Given the description of an element on the screen output the (x, y) to click on. 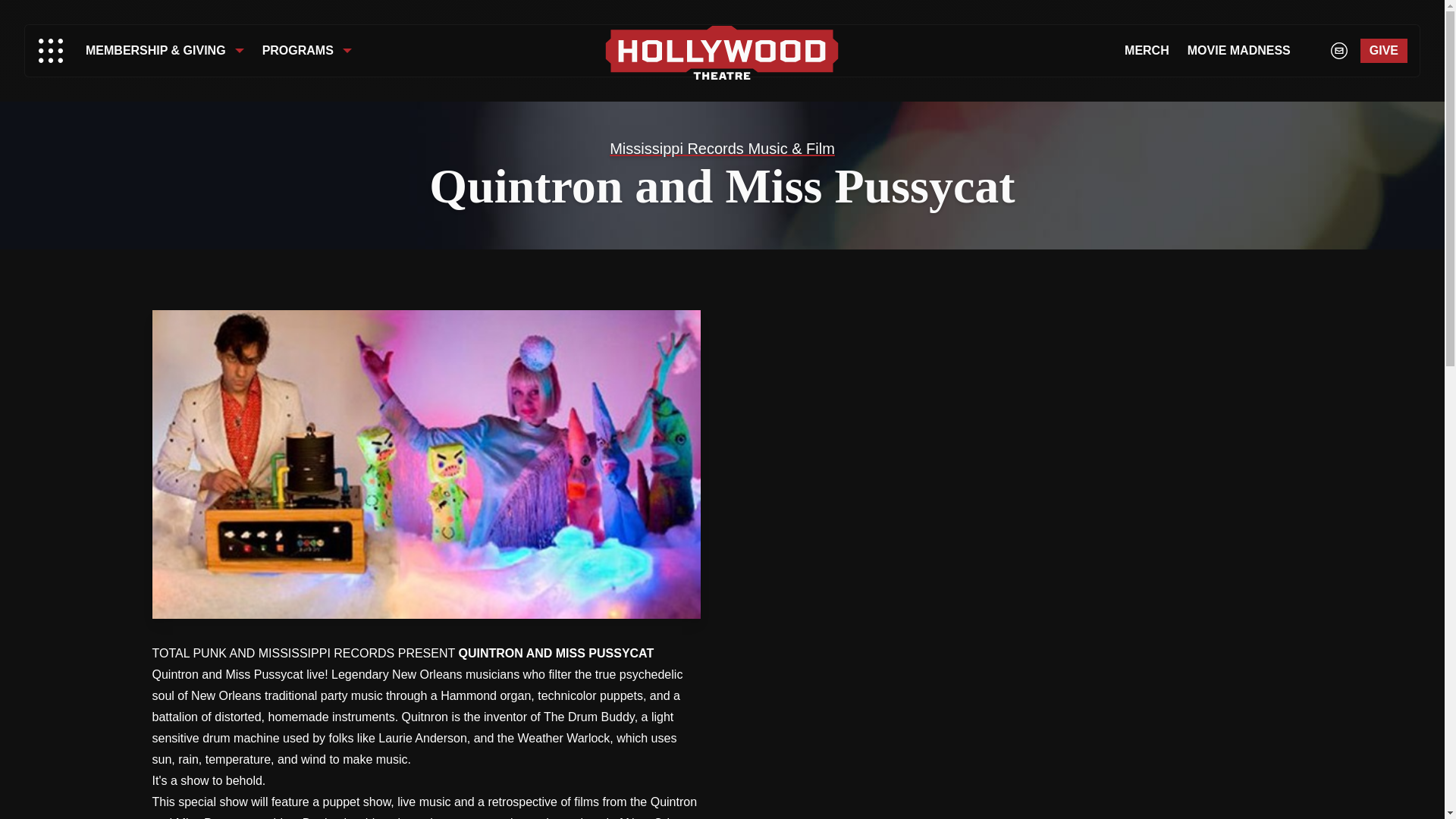
PROGRAMS (307, 50)
MERCH (1146, 50)
GIVE (1383, 50)
MOVIE MADNESS (1238, 50)
